Given the description of an element on the screen output the (x, y) to click on. 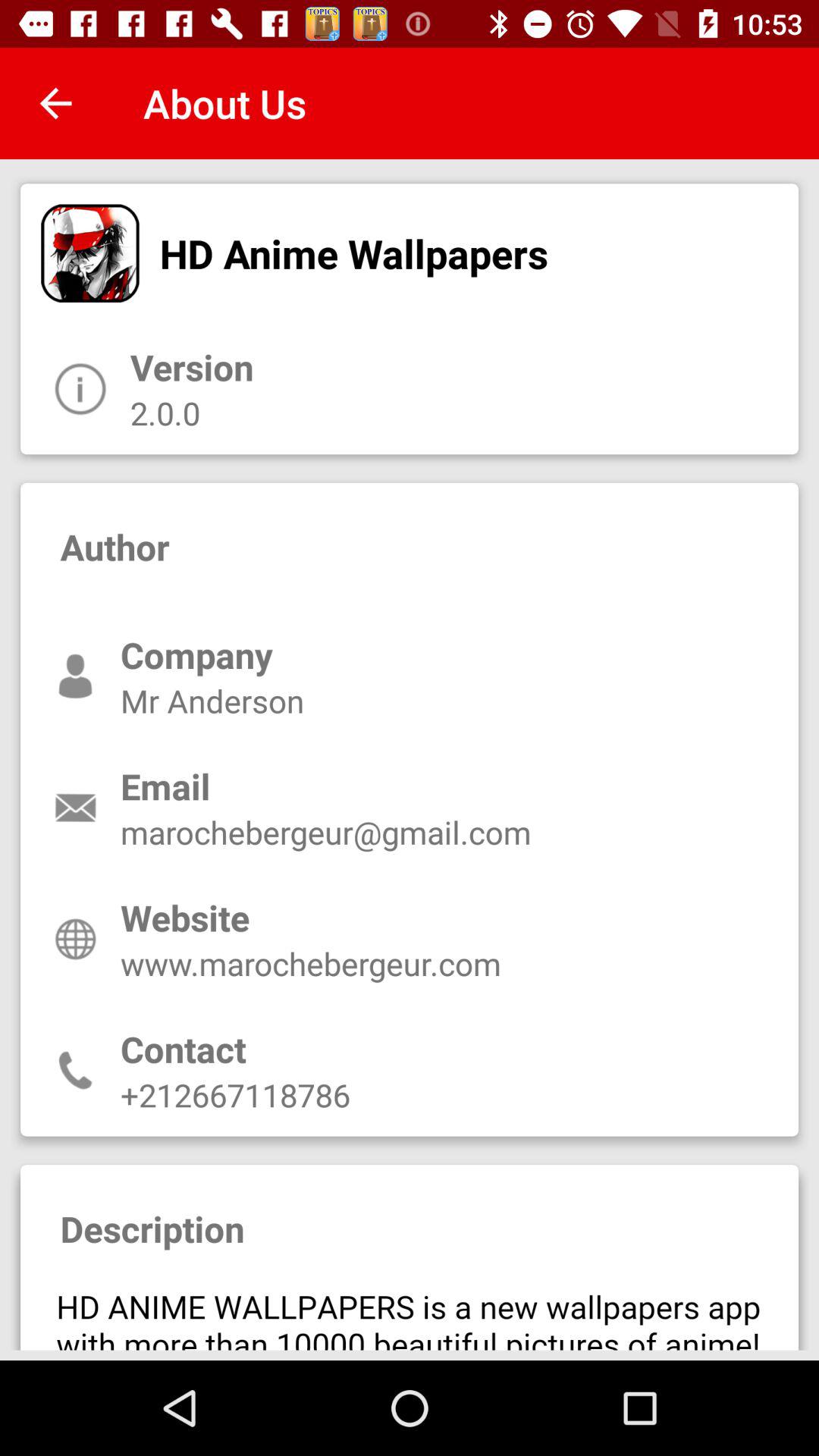
advertisement page (409, 1311)
